Given the description of an element on the screen output the (x, y) to click on. 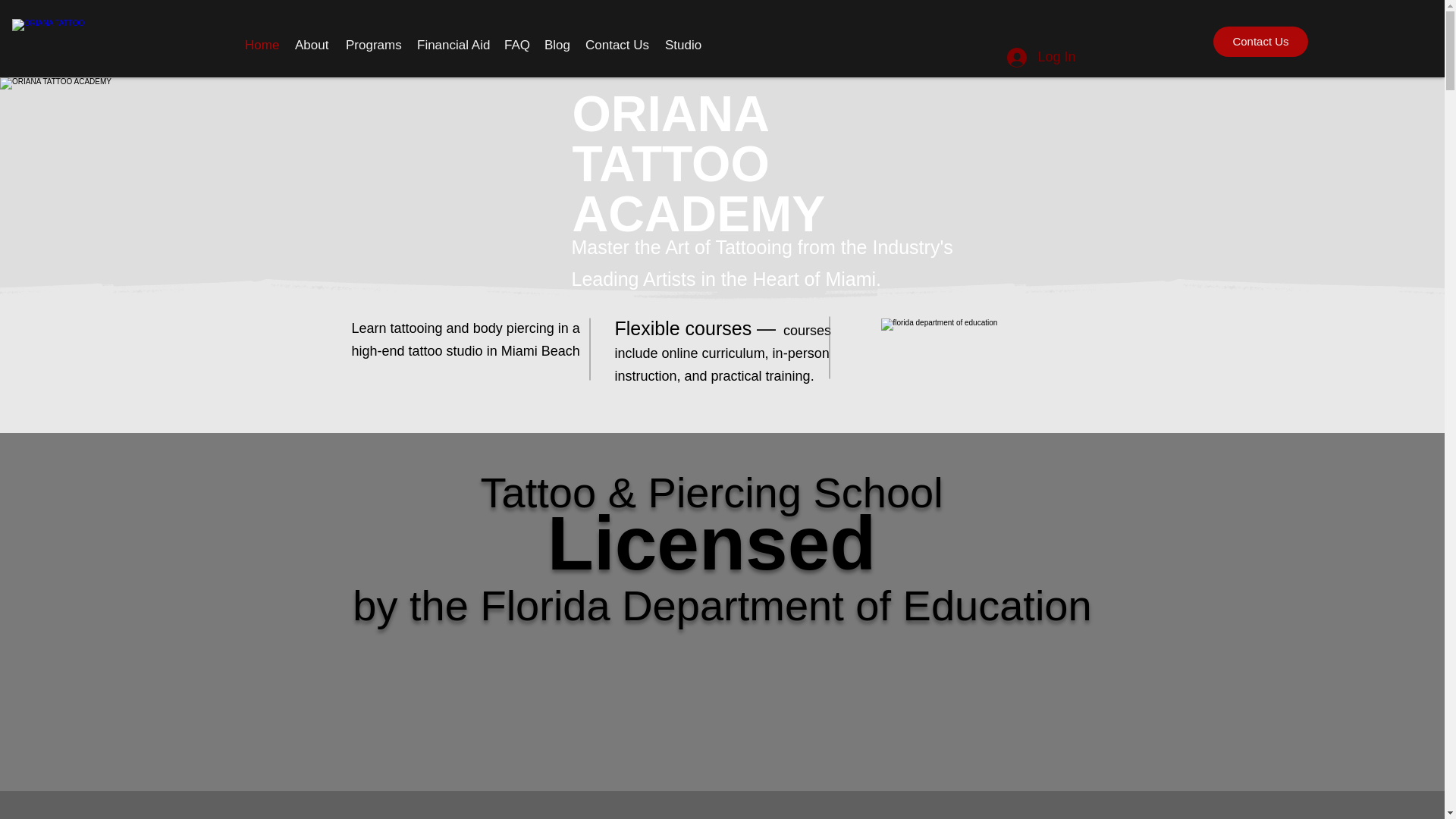
Contact Us (618, 45)
Blog (557, 45)
FAQ (516, 45)
Home (261, 45)
Programs (373, 45)
About (311, 45)
Contact Us (1259, 41)
Financial Aid (452, 45)
Studio (682, 45)
Log In (1040, 57)
